Given the description of an element on the screen output the (x, y) to click on. 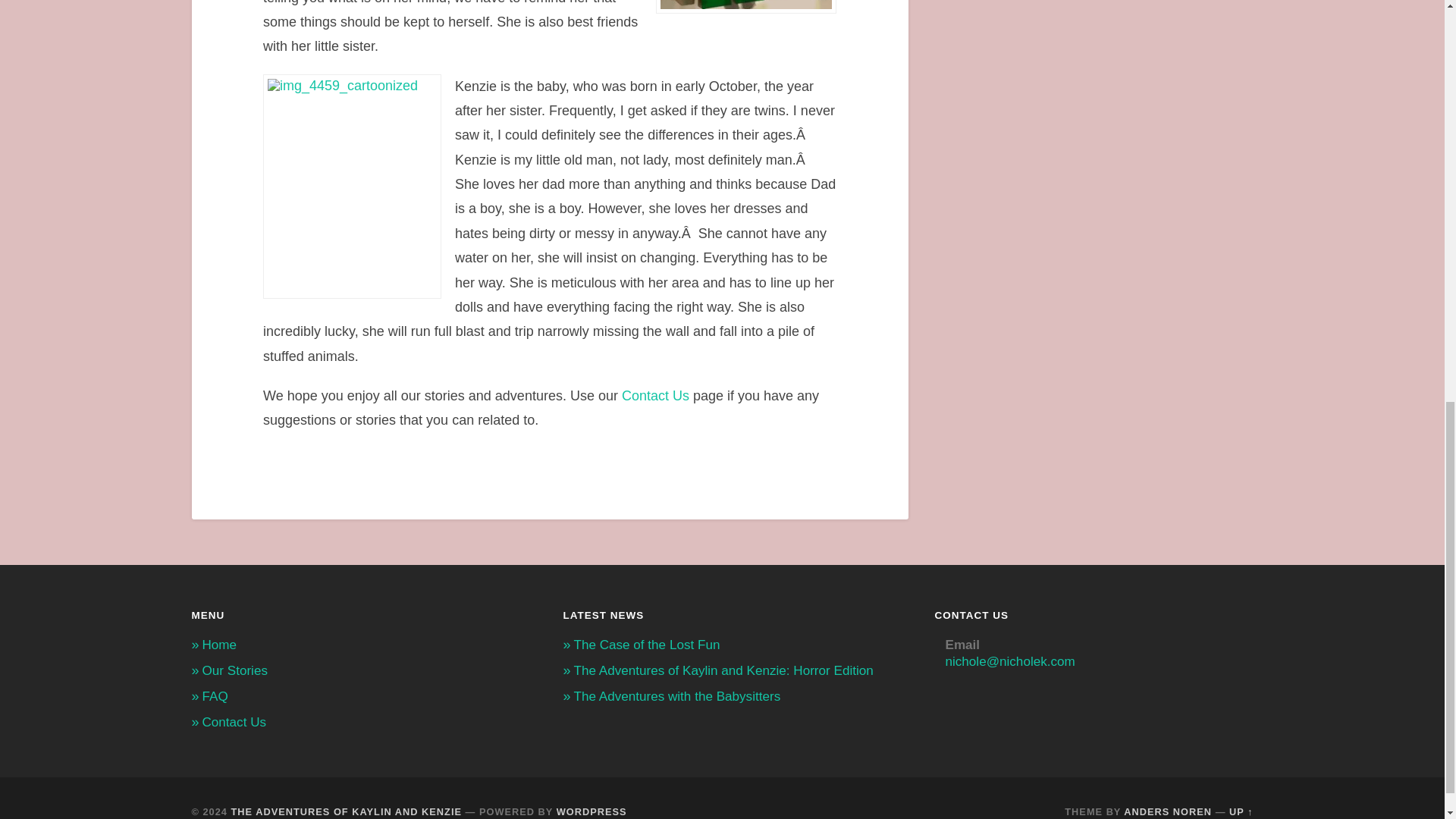
The Case of the Lost Fun (646, 644)
FAQ (214, 696)
Contact Us (654, 395)
Contact Us (234, 721)
The Adventures of Kaylin and Kenzie: Horror Edition (722, 670)
THE ADVENTURES OF KAYLIN AND KENZIE (346, 811)
Our Stories (234, 670)
Contact Us (654, 395)
WORDPRESS (591, 811)
Home (218, 644)
The Adventures with the Babysitters (676, 696)
ANDERS NOREN (1167, 811)
